Given the description of an element on the screen output the (x, y) to click on. 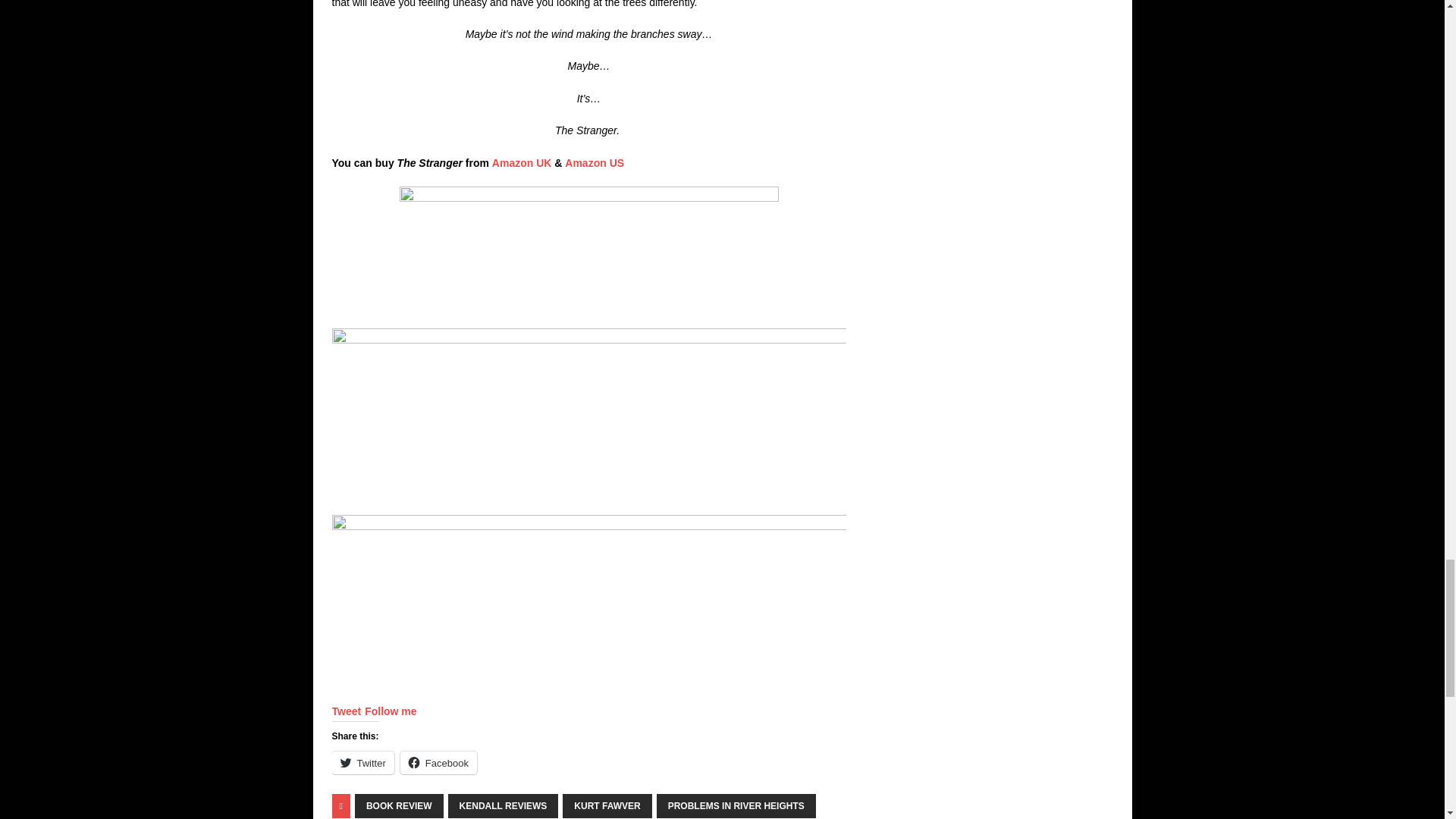
Tweet (346, 711)
BOOK REVIEW (399, 805)
Follow me (390, 711)
Facebook (438, 762)
PROBLEMS IN RIVER HEIGHTS (735, 805)
Twitter (362, 762)
Amazon US (594, 162)
Click to share on Facebook (438, 762)
Click to share on Twitter (362, 762)
KURT FAWVER (606, 805)
KENDALL REVIEWS (503, 805)
Amazon UK  (523, 162)
